Given the description of an element on the screen output the (x, y) to click on. 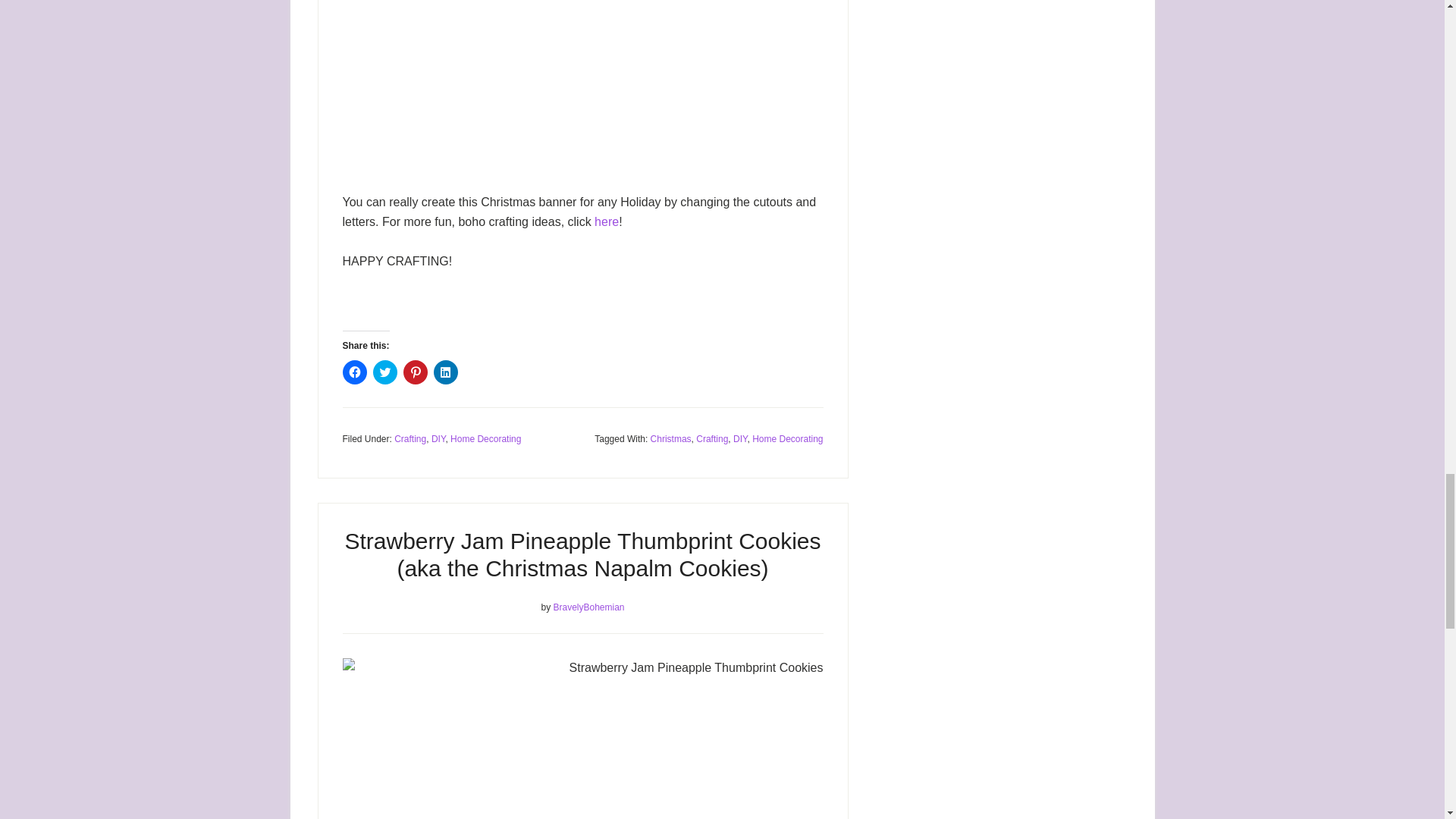
Crafting (711, 439)
DIY (739, 439)
Christmas (670, 439)
Click to share on Pinterest (415, 372)
Home Decorating (787, 439)
here (606, 221)
DIY (437, 439)
Click to share on LinkedIn (445, 372)
Crafting (410, 439)
Home Decorating (485, 439)
Click to share on Facebook (354, 372)
Click to share on Twitter (384, 372)
